Given the description of an element on the screen output the (x, y) to click on. 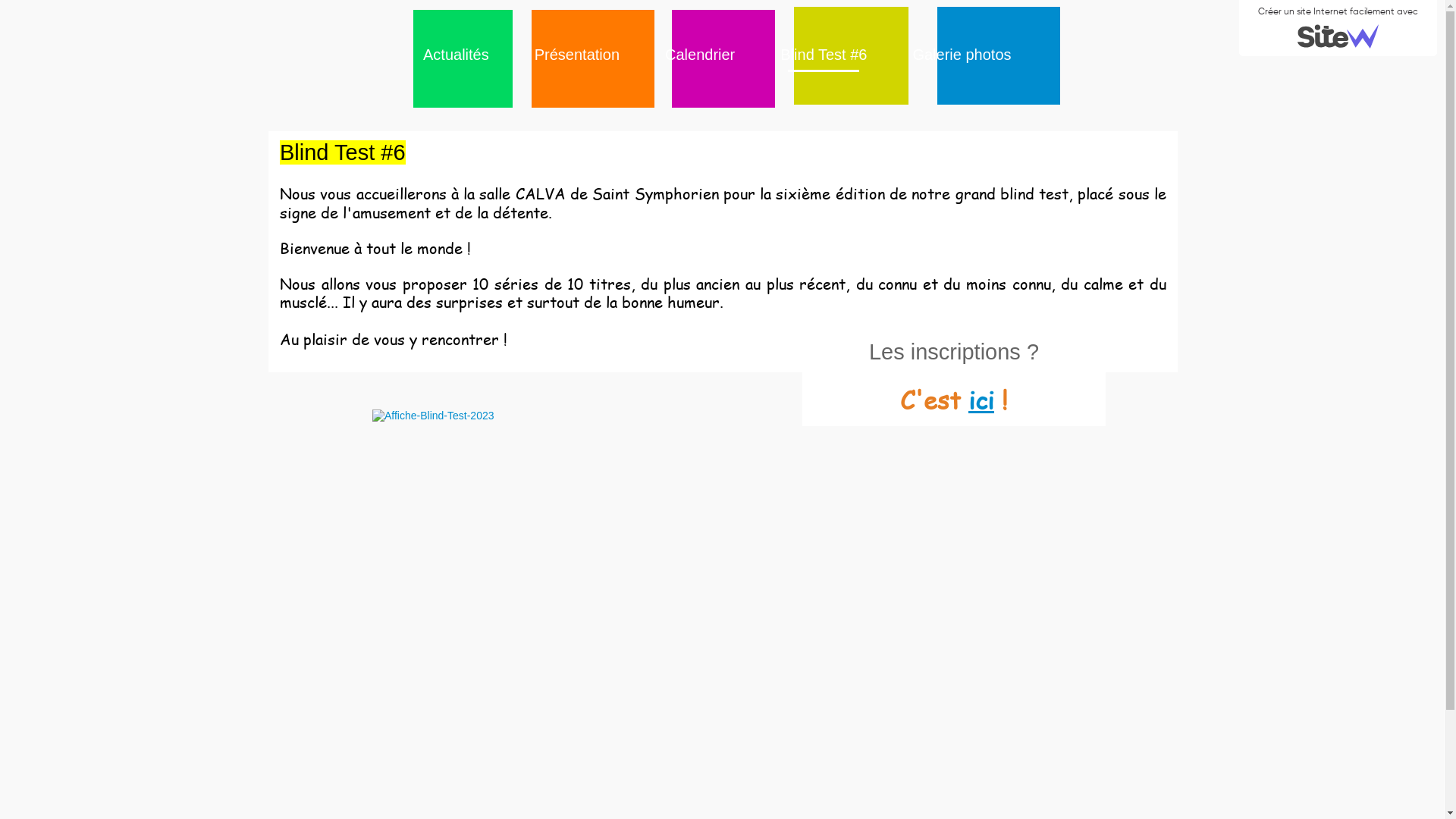
Galerie photos Element type: text (961, 54)
ici Element type: text (981, 399)
Calendrier Element type: text (699, 54)
Blind Test #6 Element type: text (823, 54)
